Given the description of an element on the screen output the (x, y) to click on. 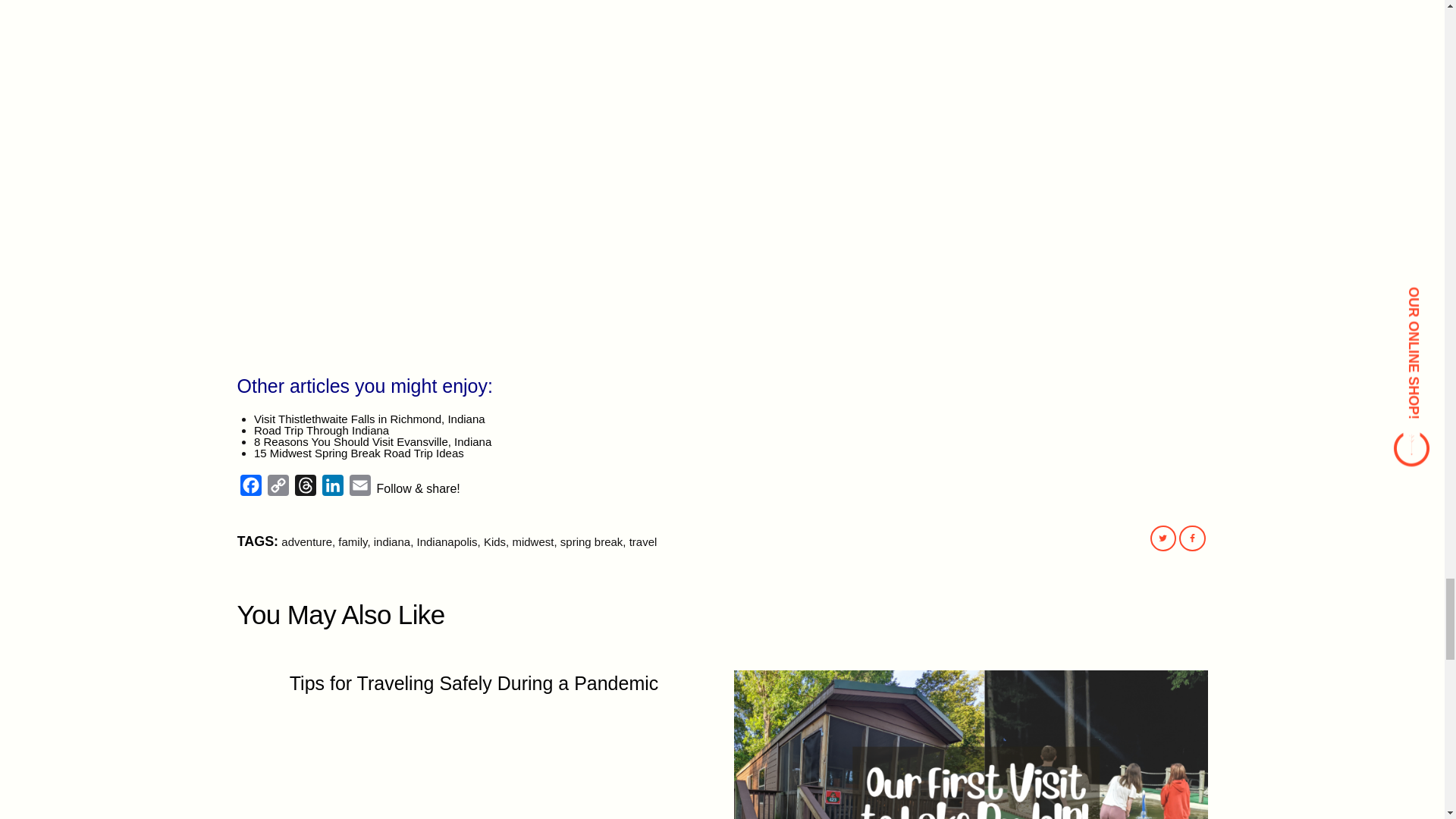
Facebook (249, 488)
Copy Link (277, 488)
LinkedIn (332, 488)
Email (359, 488)
Threads (304, 488)
